Given the description of an element on the screen output the (x, y) to click on. 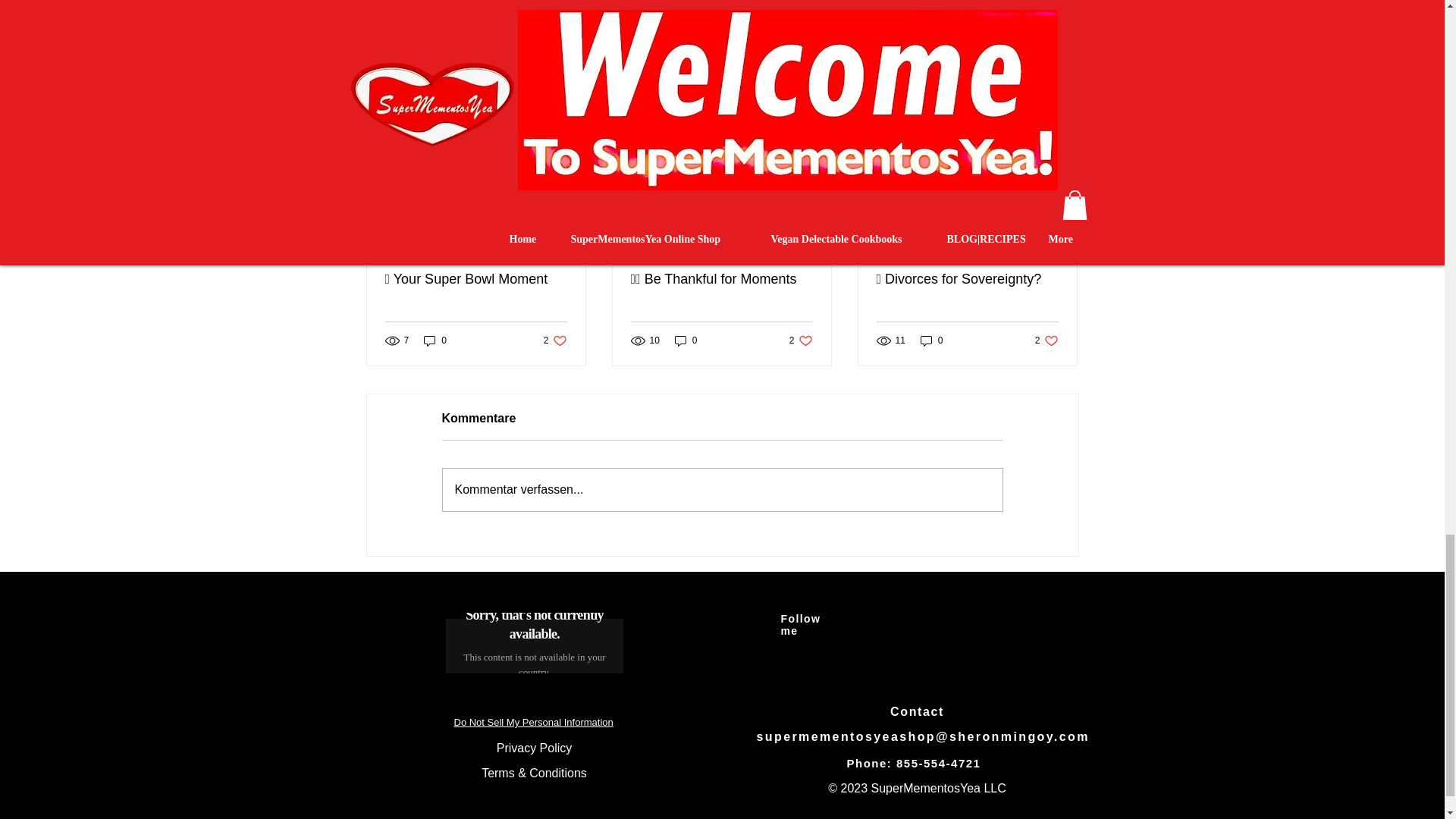
0 (435, 340)
0 (990, 20)
Do Not Sell My Personal Information (931, 340)
Spotify Player (1046, 340)
Kommentar verfassen... (532, 722)
0 (800, 340)
Spotify Player (533, 642)
See All (722, 489)
